Given the description of an element on the screen output the (x, y) to click on. 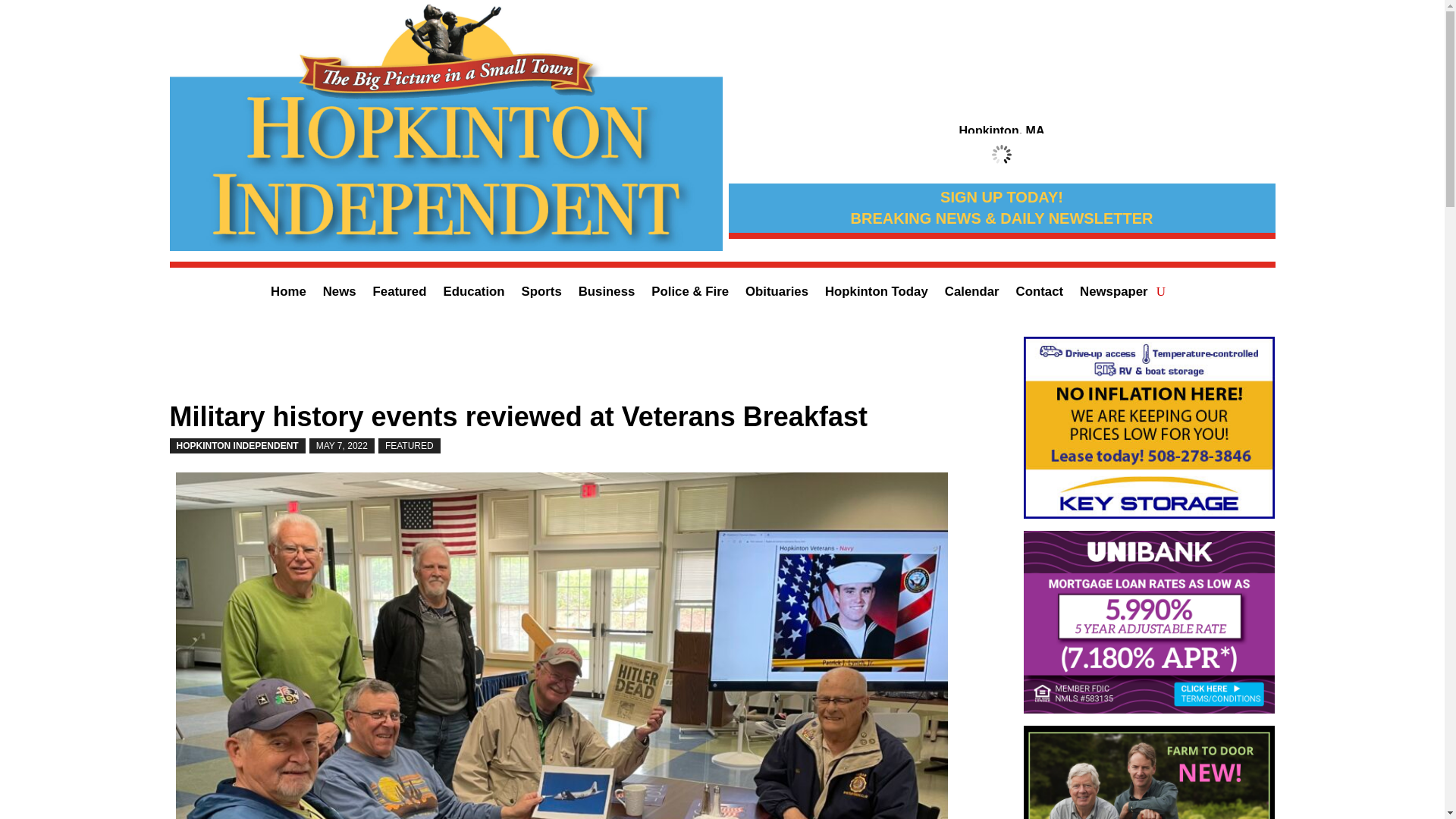
Business (606, 294)
Sports (541, 294)
Featured (399, 294)
Calendar (971, 294)
Contact (1039, 294)
Obituaries (776, 294)
Newspaper (1114, 294)
Hopkinton Today (876, 294)
Home (287, 294)
